Given the description of an element on the screen output the (x, y) to click on. 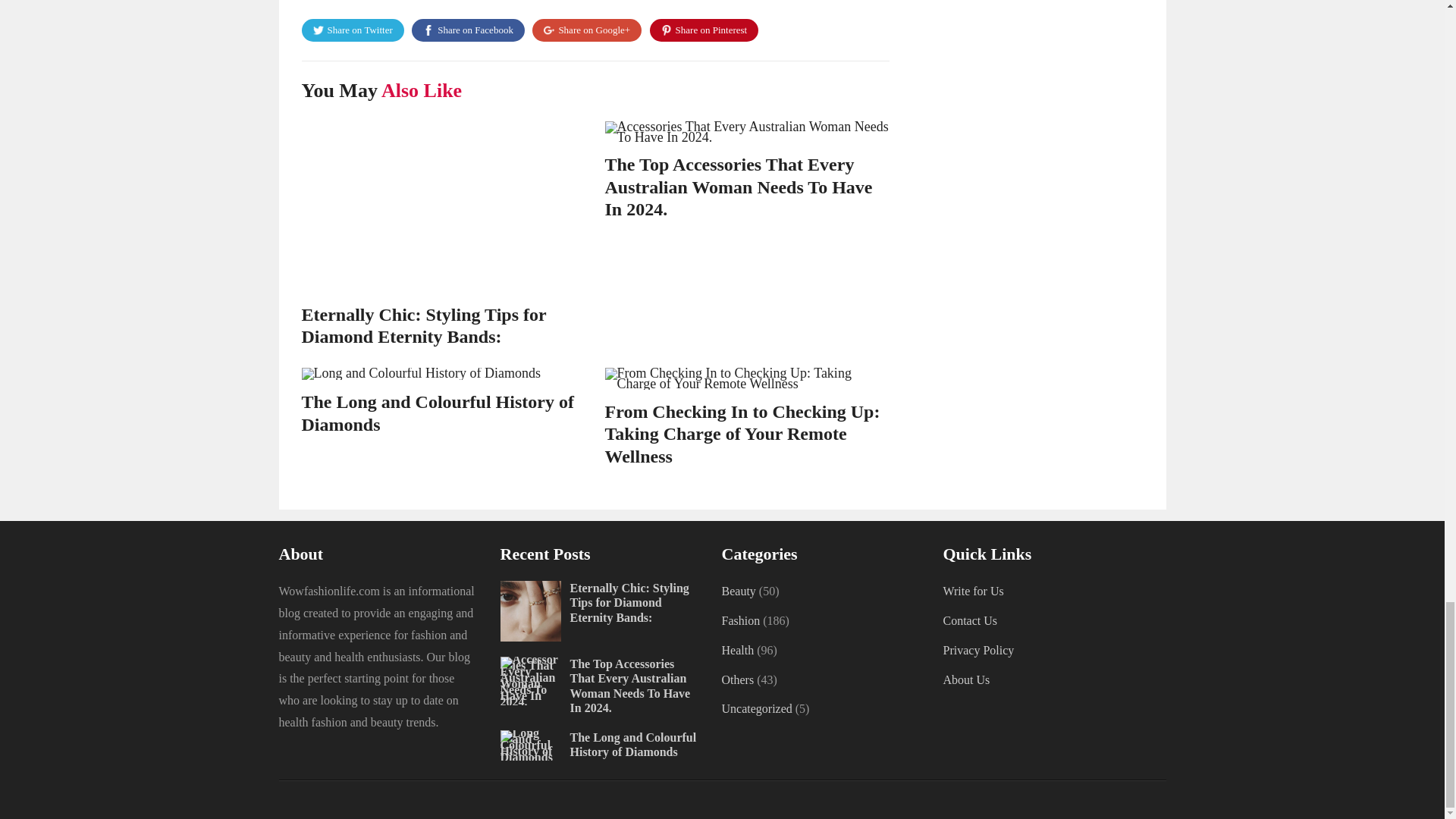
Share on Facebook (468, 29)
Share on Pinterest (703, 29)
Eternally Chic: Styling Tips for Diamond Eternity Bands: (424, 325)
The Long and Colourful History of Diamonds (437, 413)
Share on Twitter (352, 29)
